Given the description of an element on the screen output the (x, y) to click on. 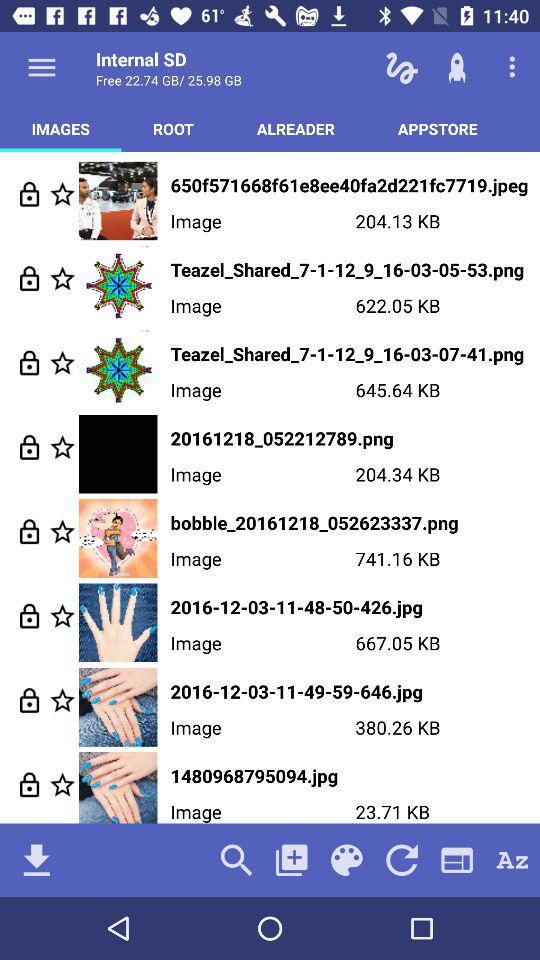
add to favorites (62, 784)
